Given the description of an element on the screen output the (x, y) to click on. 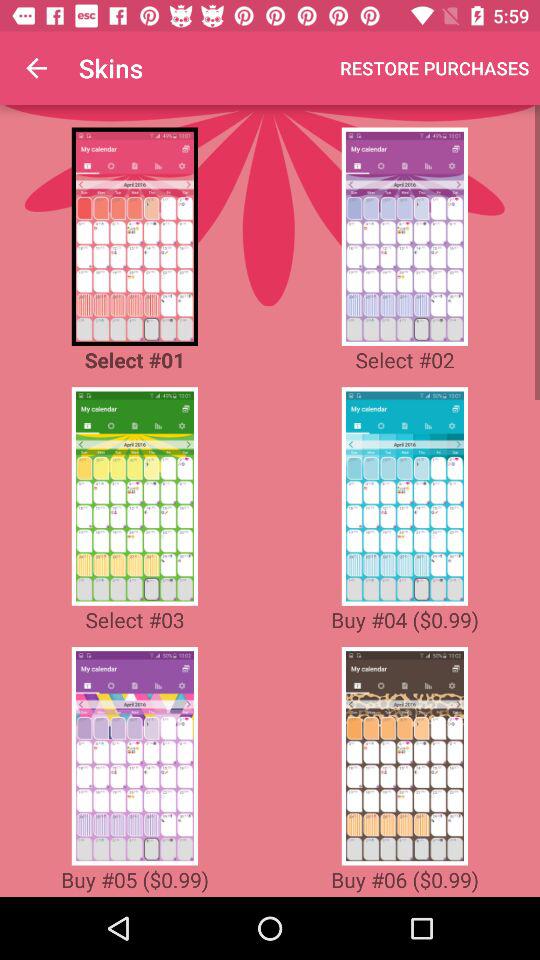
coloring skin (134, 236)
